Given the description of an element on the screen output the (x, y) to click on. 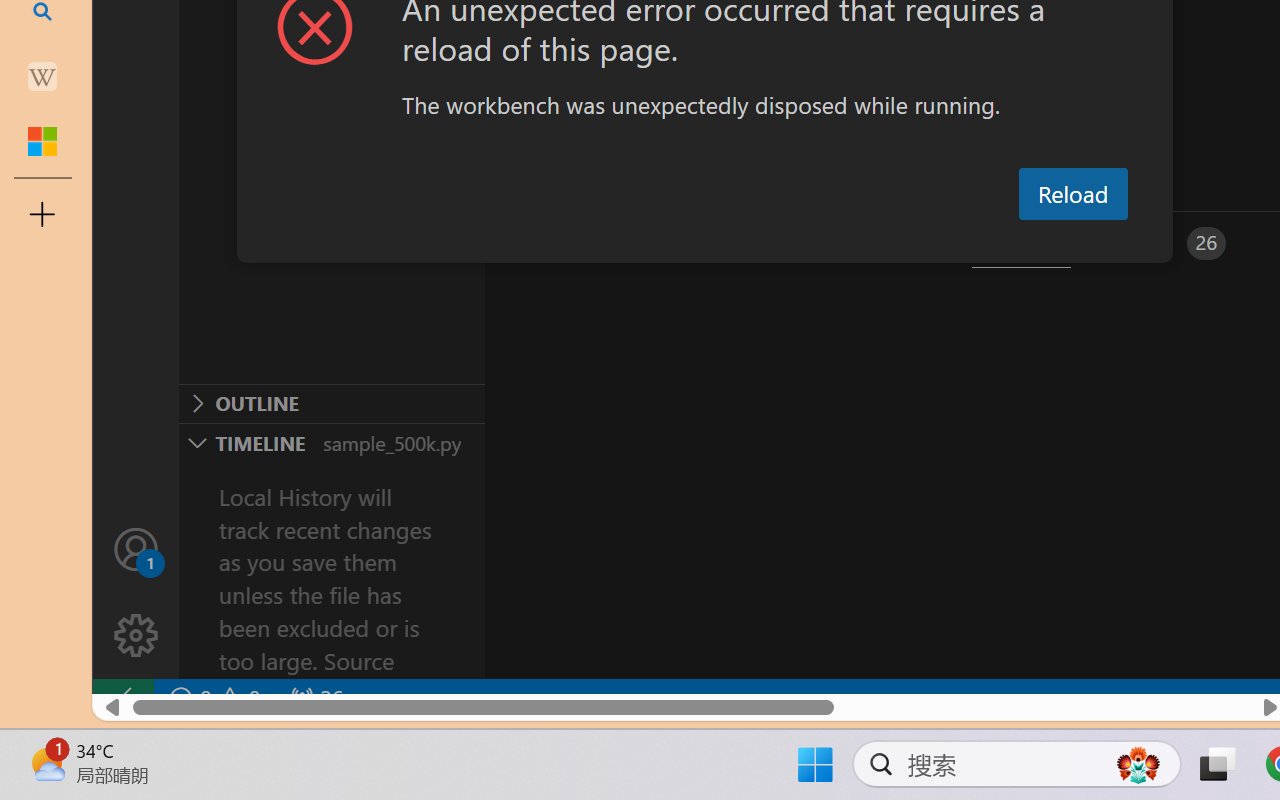
Ports - 26 forwarded ports (1165, 243)
remote (122, 698)
Timeline Section (331, 442)
Debug Console (Ctrl+Shift+Y) (854, 243)
Accounts - Sign in requested (135, 548)
No Problems (212, 698)
Output (Ctrl+Shift+U) (696, 243)
Problems (Ctrl+Shift+M) (567, 243)
